Given the description of an element on the screen output the (x, y) to click on. 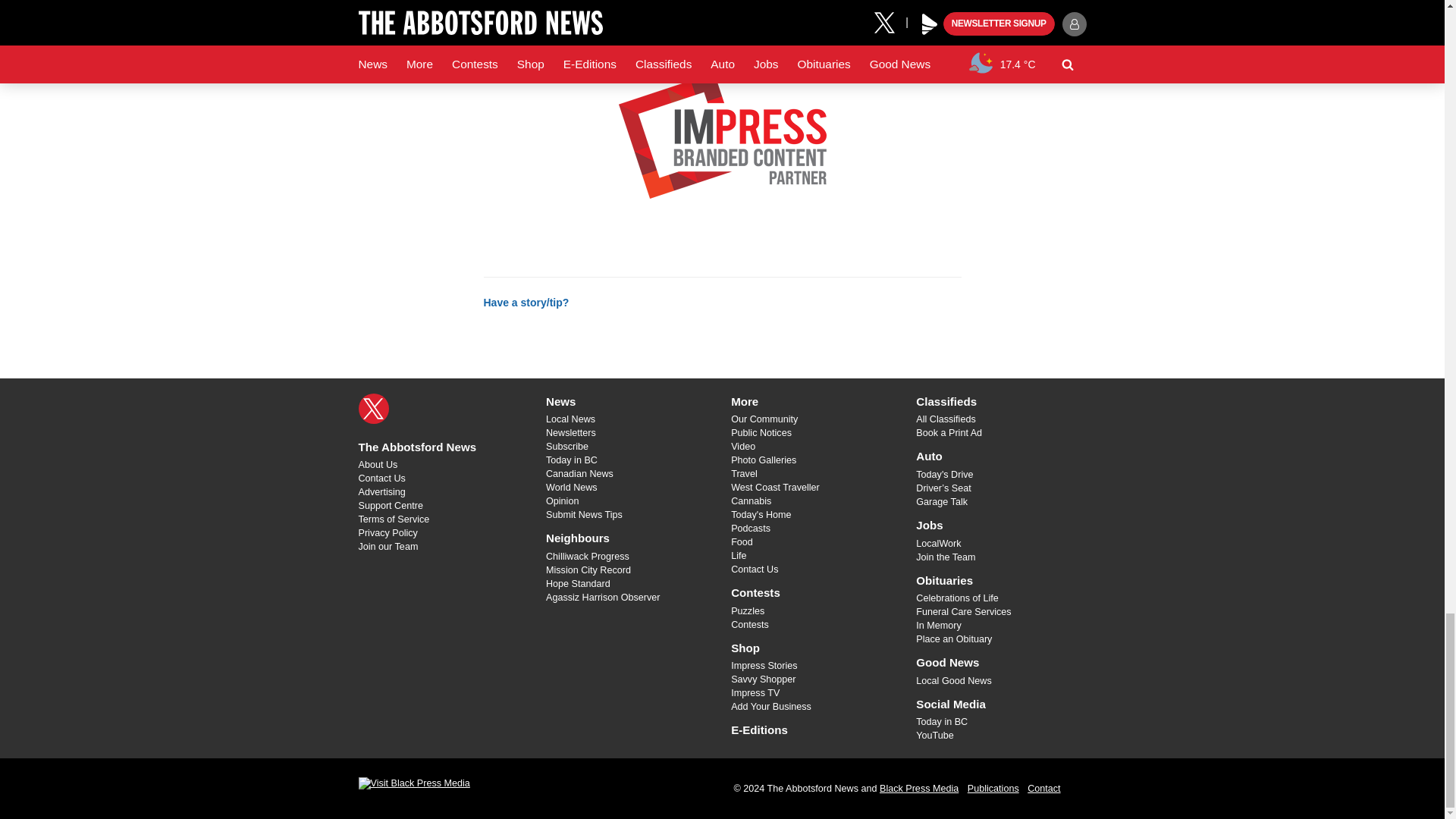
X (373, 408)
